Given the description of an element on the screen output the (x, y) to click on. 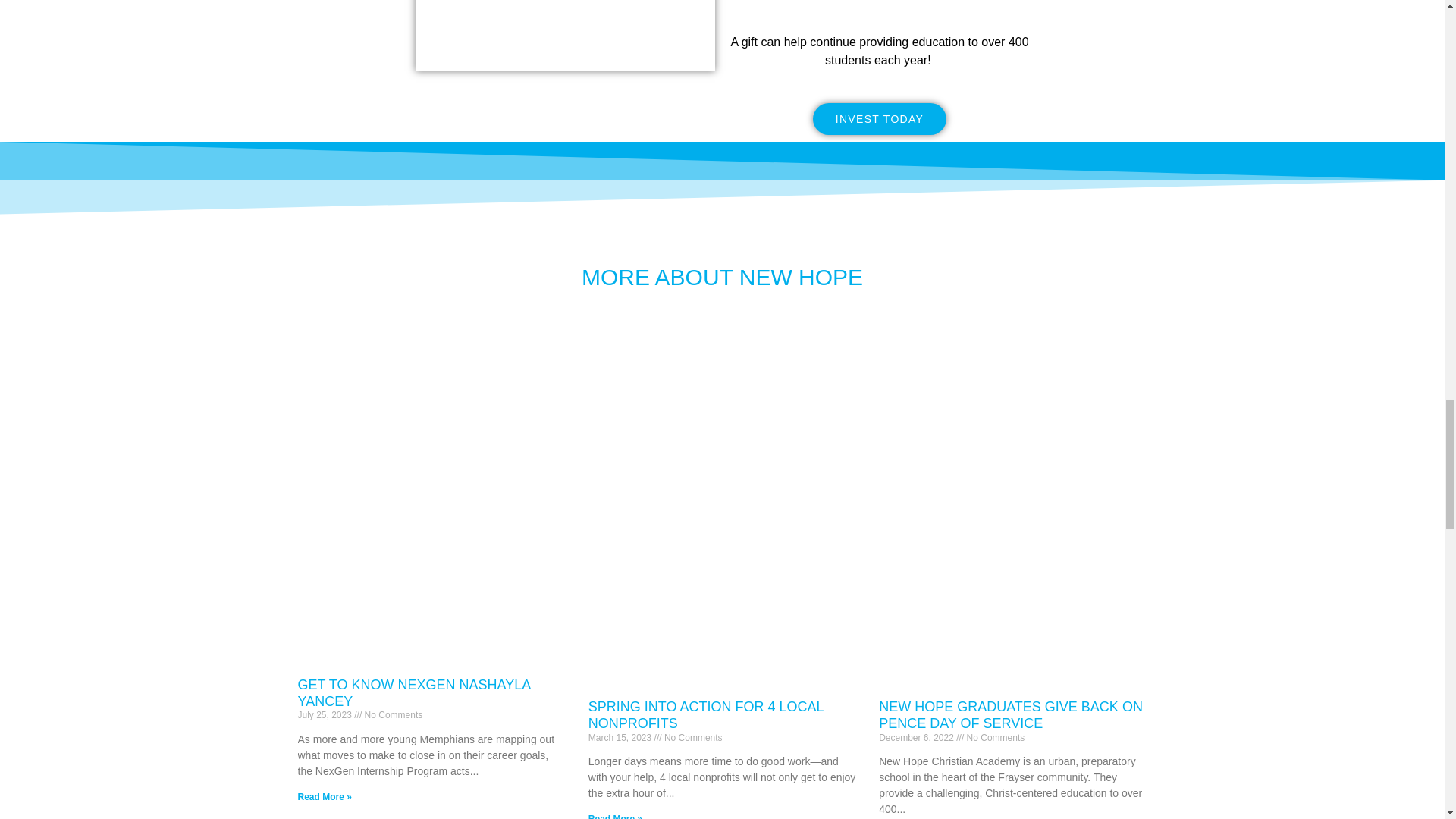
SPRING INTO ACTION FOR 4 LOCAL NONPROFITS (706, 715)
GET TO KNOW NEXGEN NASHAYLA YANCEY (413, 693)
INVEST TODAY (879, 119)
NEW HOPE GRADUATES GIVE BACK ON PENCE DAY OF SERVICE (1010, 715)
